Given the description of an element on the screen output the (x, y) to click on. 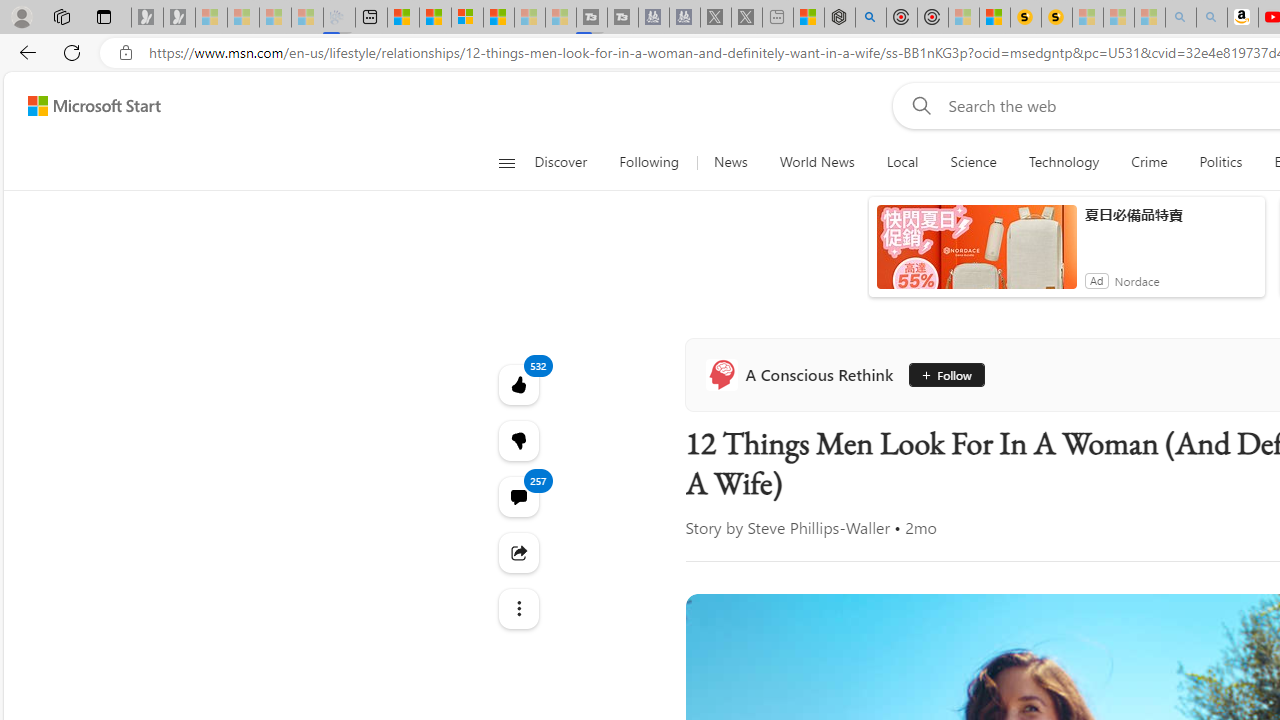
View comments 257 Comment (517, 496)
Politics (1220, 162)
X - Sleeping (746, 17)
Class: button-glyph (505, 162)
532 Like (517, 384)
poe - Search (870, 17)
Share this story (517, 552)
Technology (1064, 162)
